Given the description of an element on the screen output the (x, y) to click on. 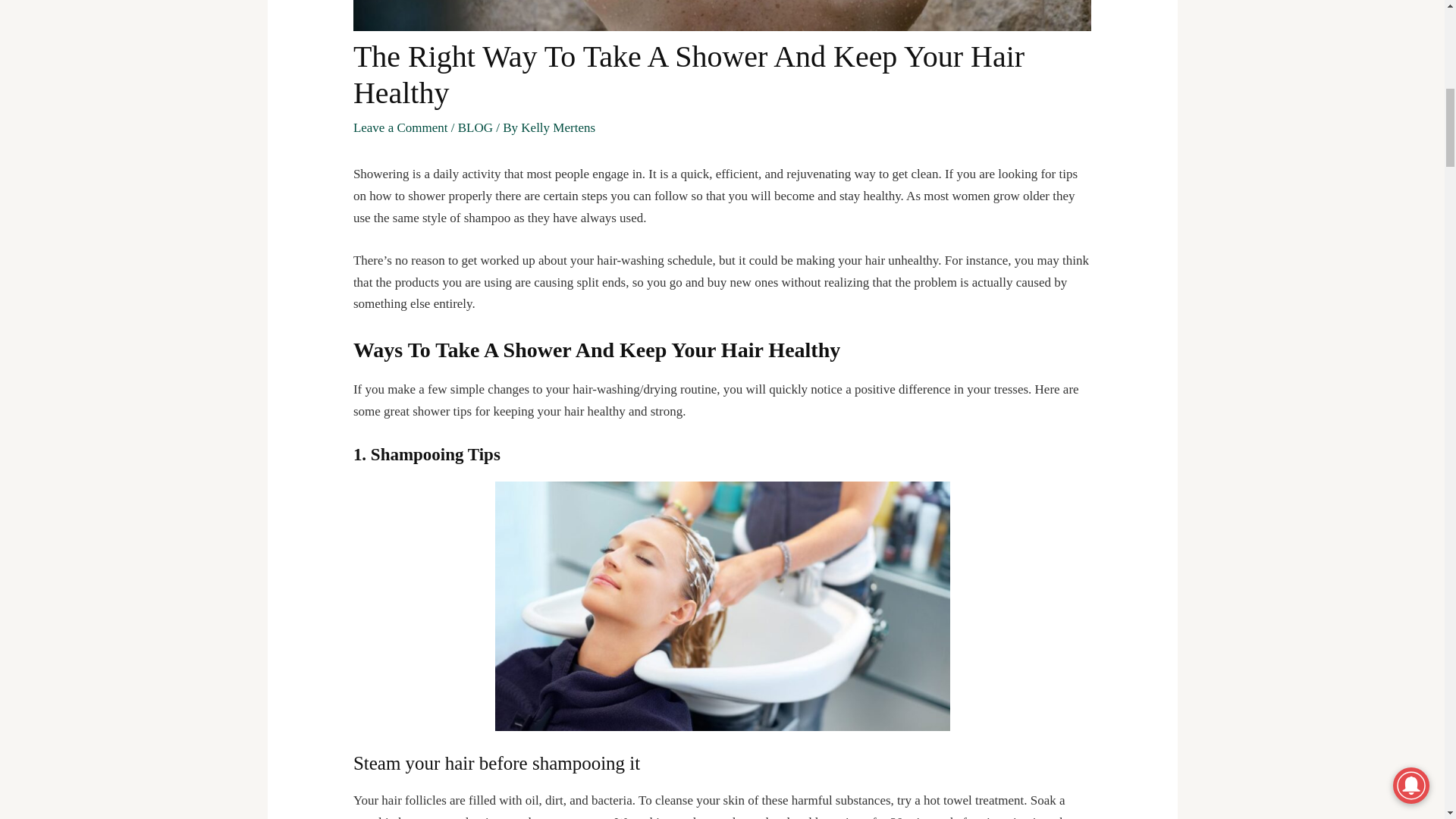
BLOG (475, 127)
Leave a Comment (400, 127)
Kelly Mertens (558, 127)
View all posts by Kelly Mertens (558, 127)
